Given the description of an element on the screen output the (x, y) to click on. 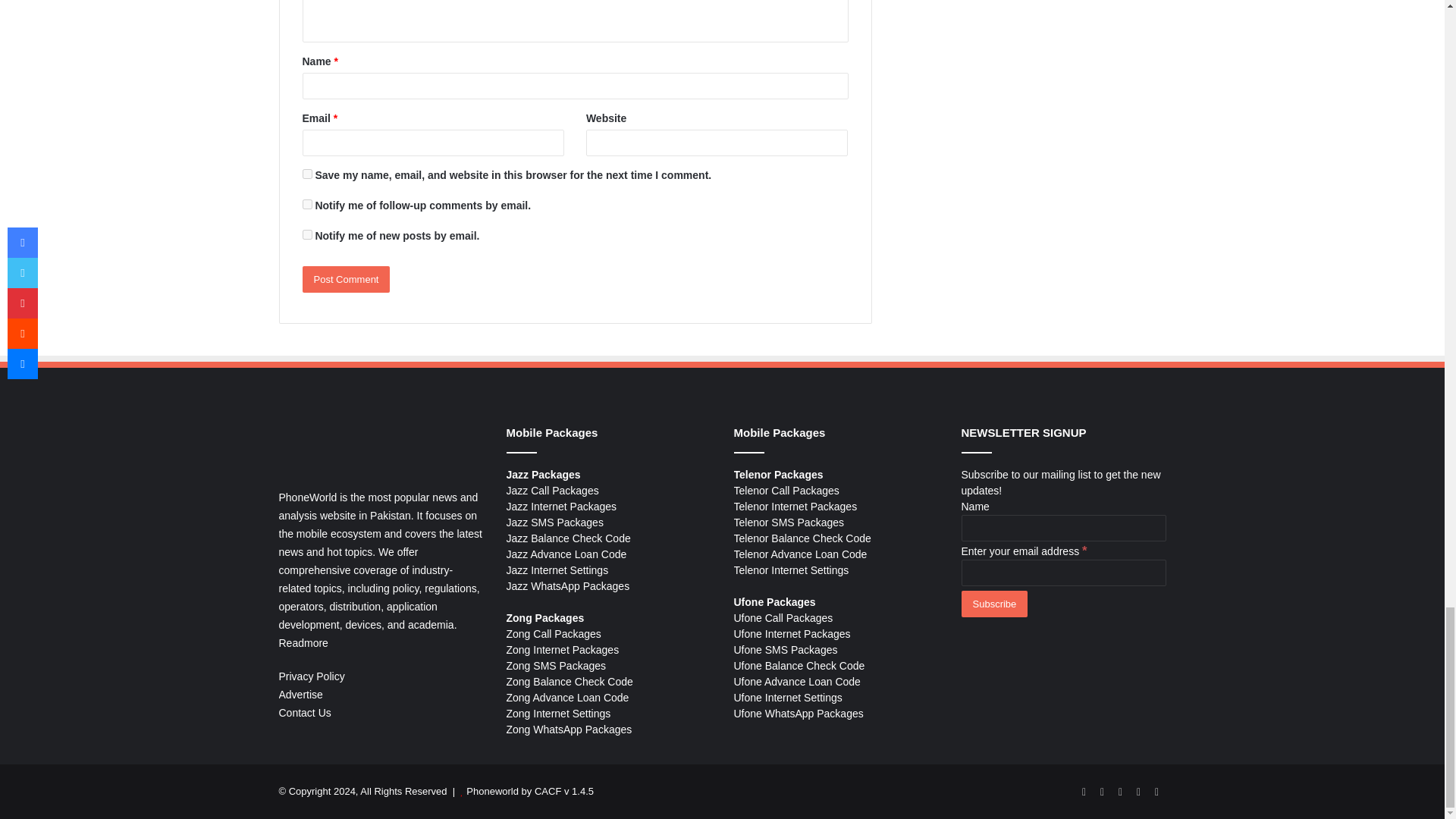
yes (306, 173)
subscribe (306, 234)
Subscribe (993, 603)
Post Comment (345, 279)
subscribe (306, 204)
